Given the description of an element on the screen output the (x, y) to click on. 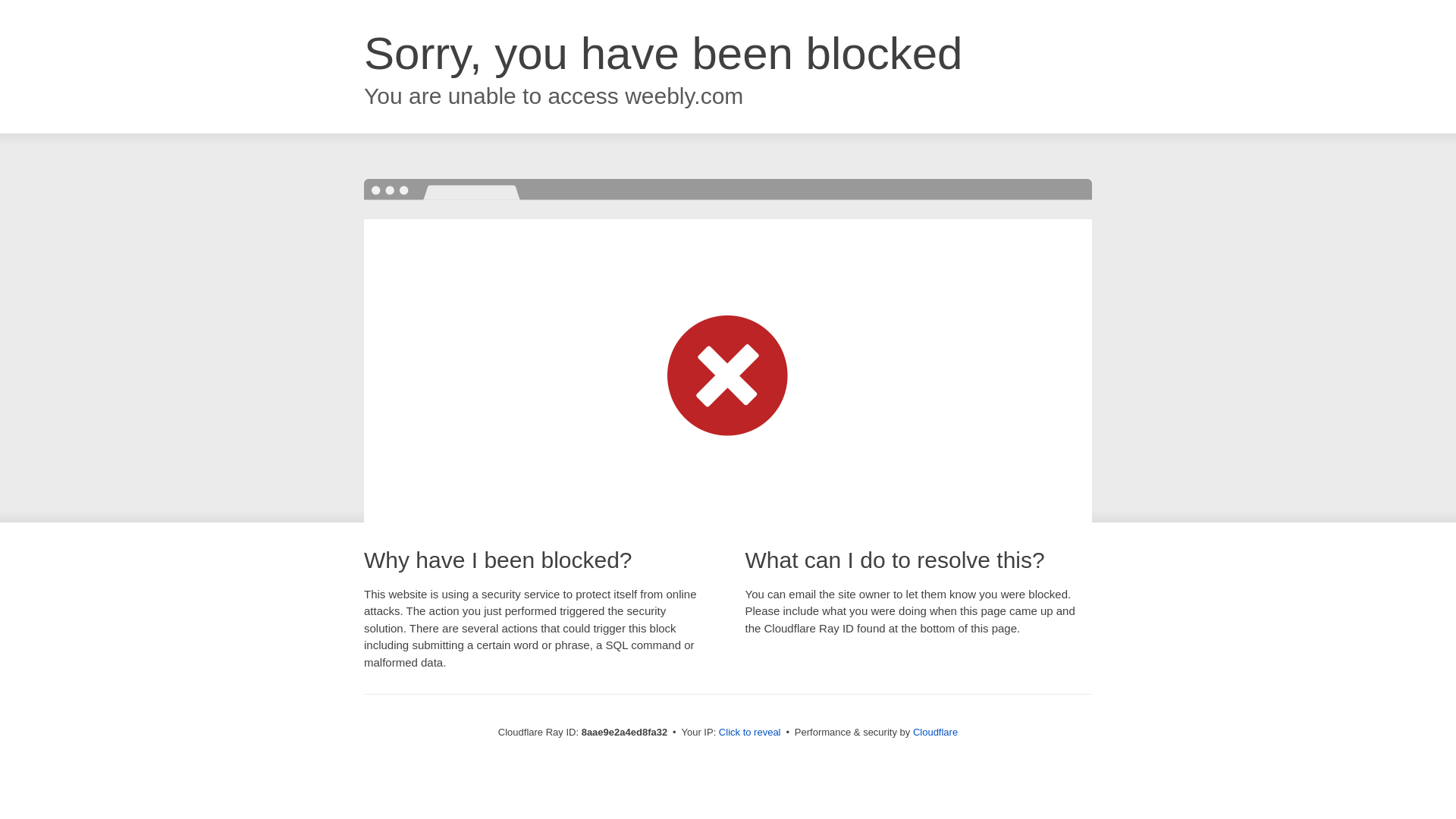
Click to reveal (749, 732)
Cloudflare (935, 731)
